Given the description of an element on the screen output the (x, y) to click on. 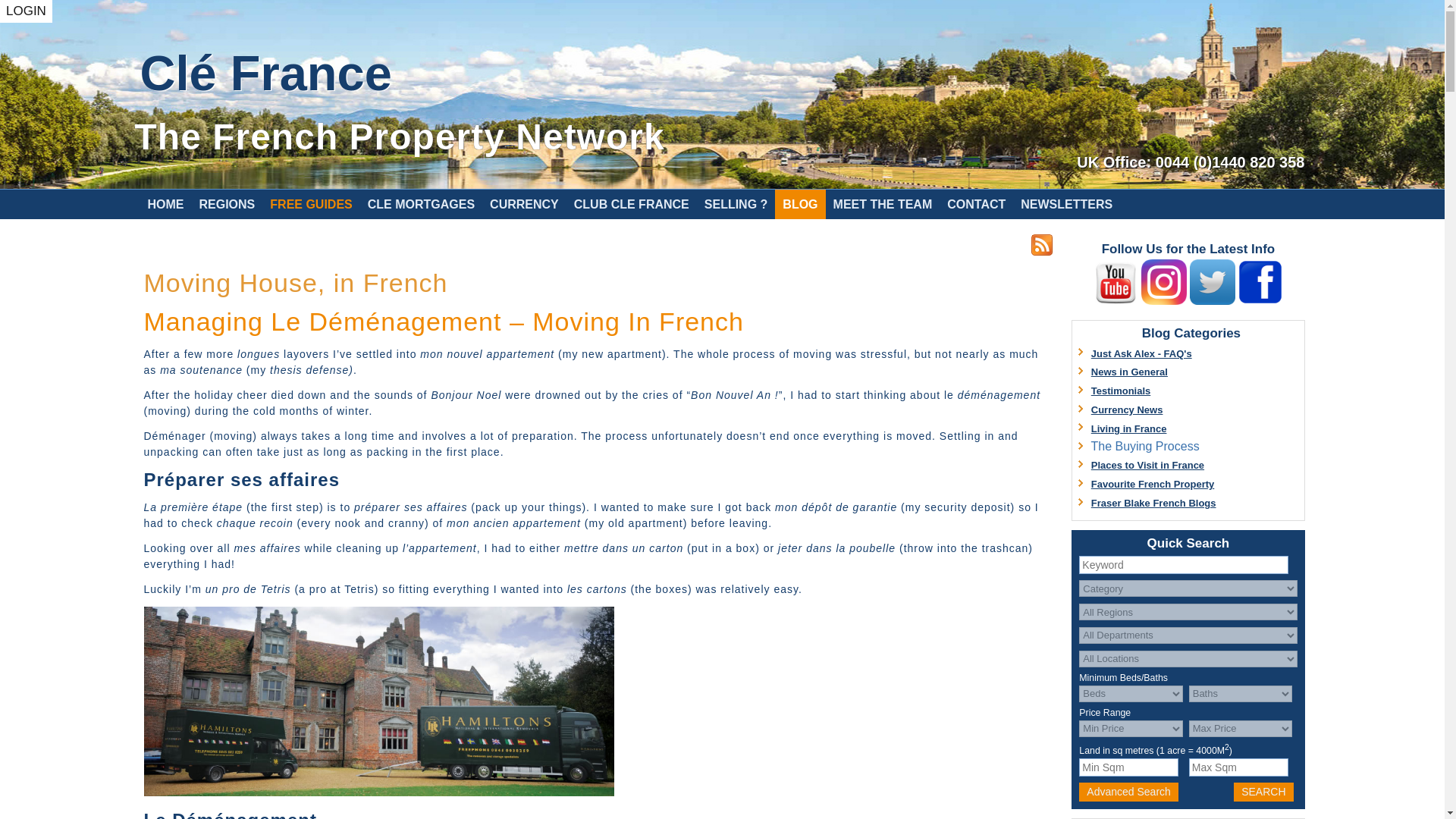
CLUB CLE FRANCE (631, 204)
HOME (164, 204)
Cle France You Tube (1115, 301)
Hamiltons removals (379, 792)
REGIONS (226, 204)
CURRENCY (523, 204)
LOGIN (25, 11)
CLE MORTGAGES (420, 204)
FREE GUIDES (310, 204)
